Given the description of an element on the screen output the (x, y) to click on. 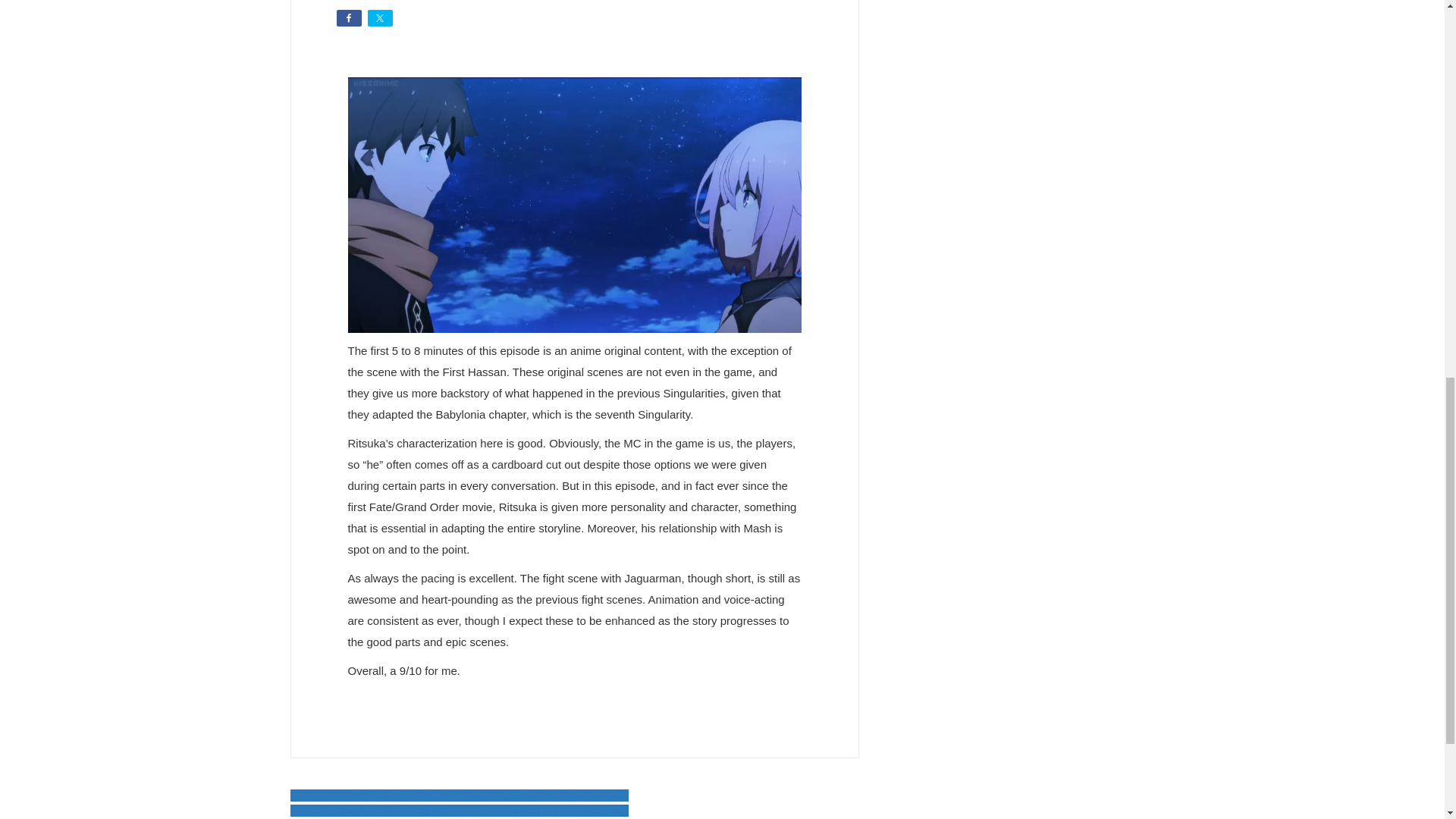
SWORD ART ONLINE: WAR OF UNDERWORLD EPISODE 3 REVIEW (458, 810)
Share on Facebook (348, 17)
SWORD ART ONLINE: WAR OF UNDERWORLD EPISODE 2 REVIEW (458, 795)
Share on Twitter (378, 17)
